Given the description of an element on the screen output the (x, y) to click on. 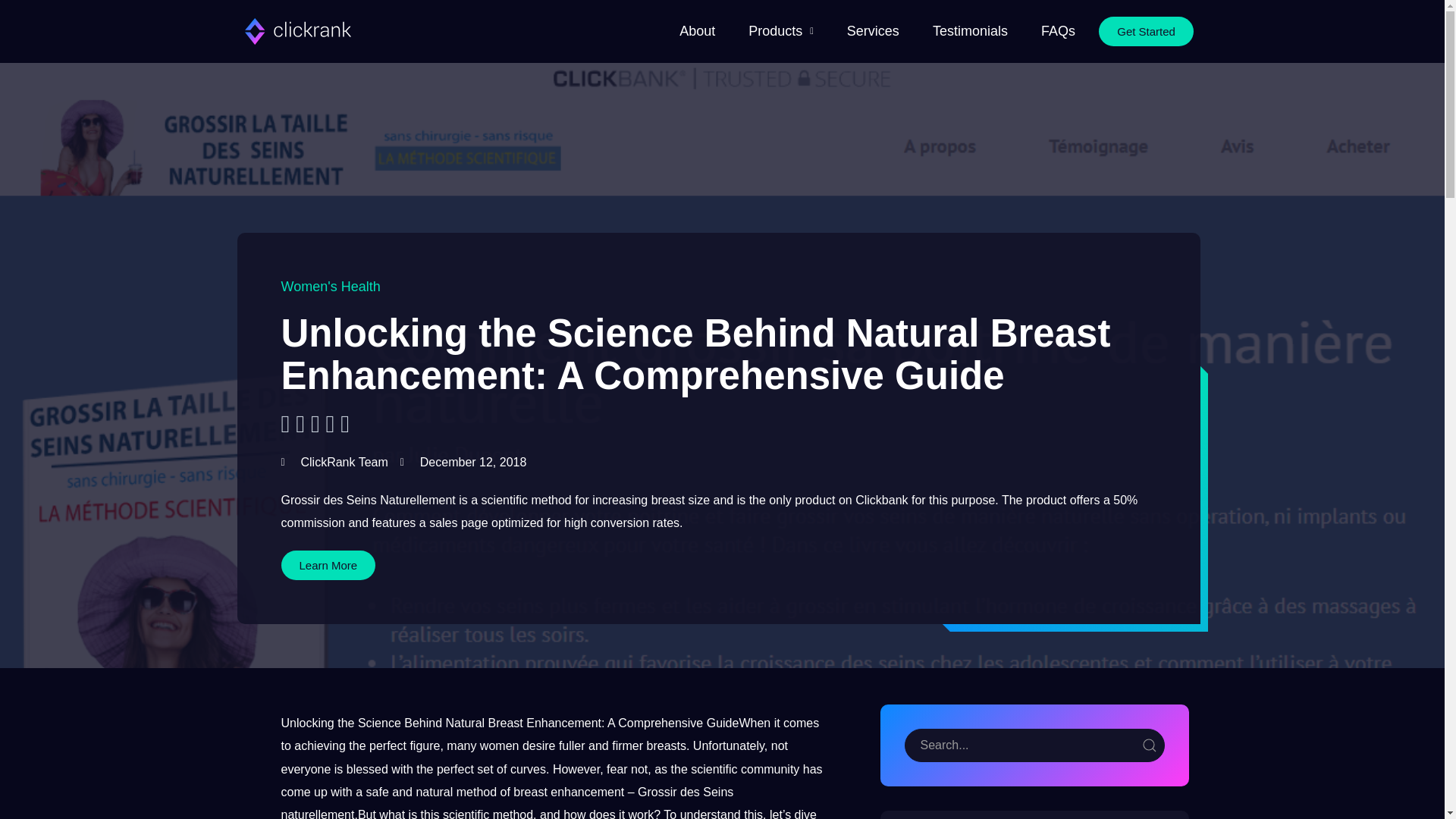
Products (781, 31)
FAQs (1058, 31)
Search (1033, 745)
Services (873, 31)
About (696, 31)
Testimonials (969, 31)
